Given the description of an element on the screen output the (x, y) to click on. 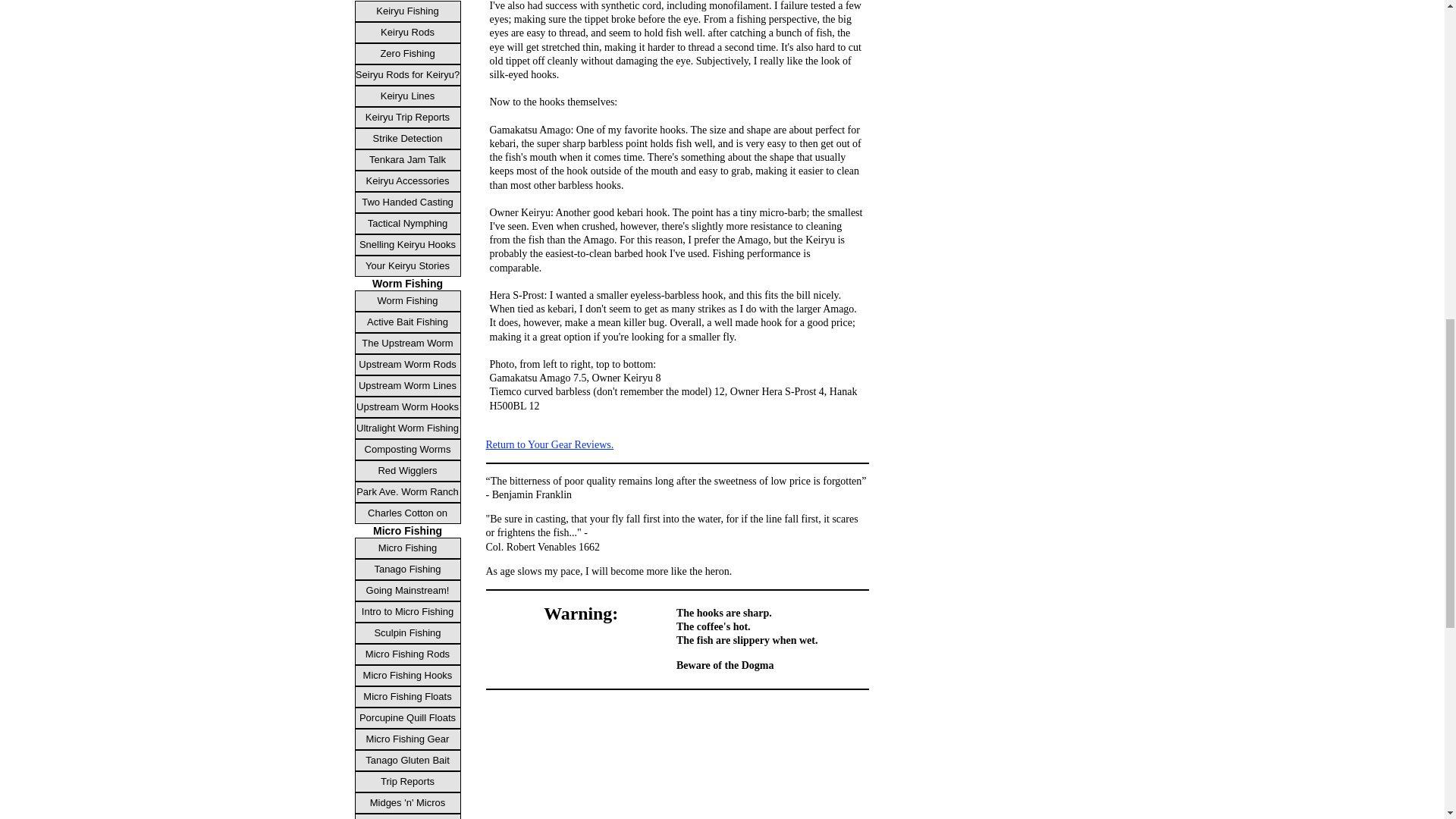
Keiryu Lines (408, 96)
Upstream Worm Lines (408, 385)
Return to Your Gear Reviews. (548, 444)
Strike Detection (408, 138)
Keiryu Fishing (408, 11)
Red Wigglers (408, 470)
Composting Worms (408, 449)
Upstream Worm Rods (408, 364)
Tactical Nymphing (408, 223)
Snelling Keiryu Hooks (408, 244)
